Given the description of an element on the screen output the (x, y) to click on. 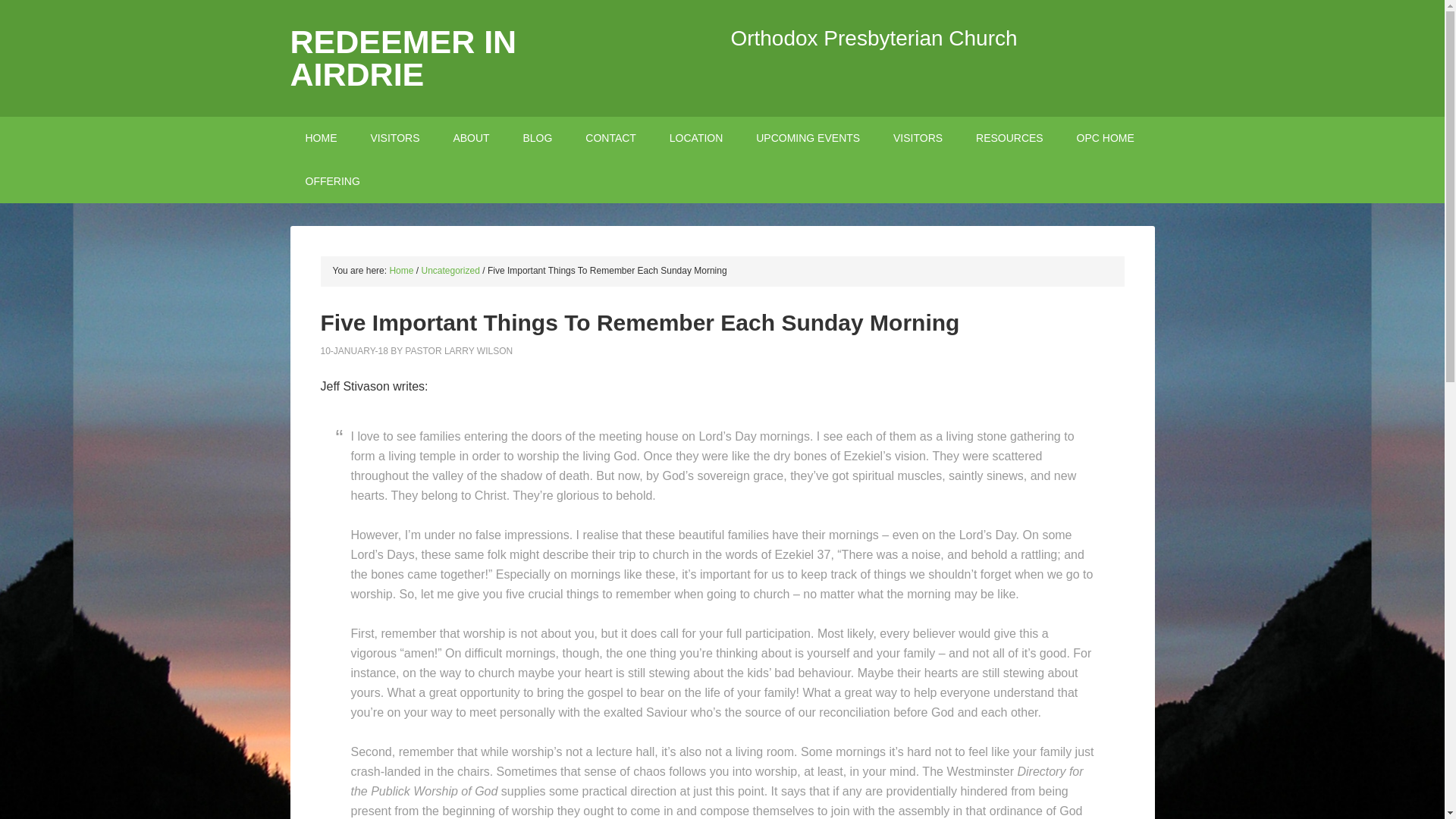
OPC HOME (1105, 138)
ABOUT (470, 138)
VISITORS (394, 138)
HOME (320, 138)
RESOURCES (1009, 138)
UPCOMING EVENTS (808, 138)
Home (400, 270)
BLOG (537, 138)
Uncategorized (451, 270)
OFFERING (331, 181)
